Given the description of an element on the screen output the (x, y) to click on. 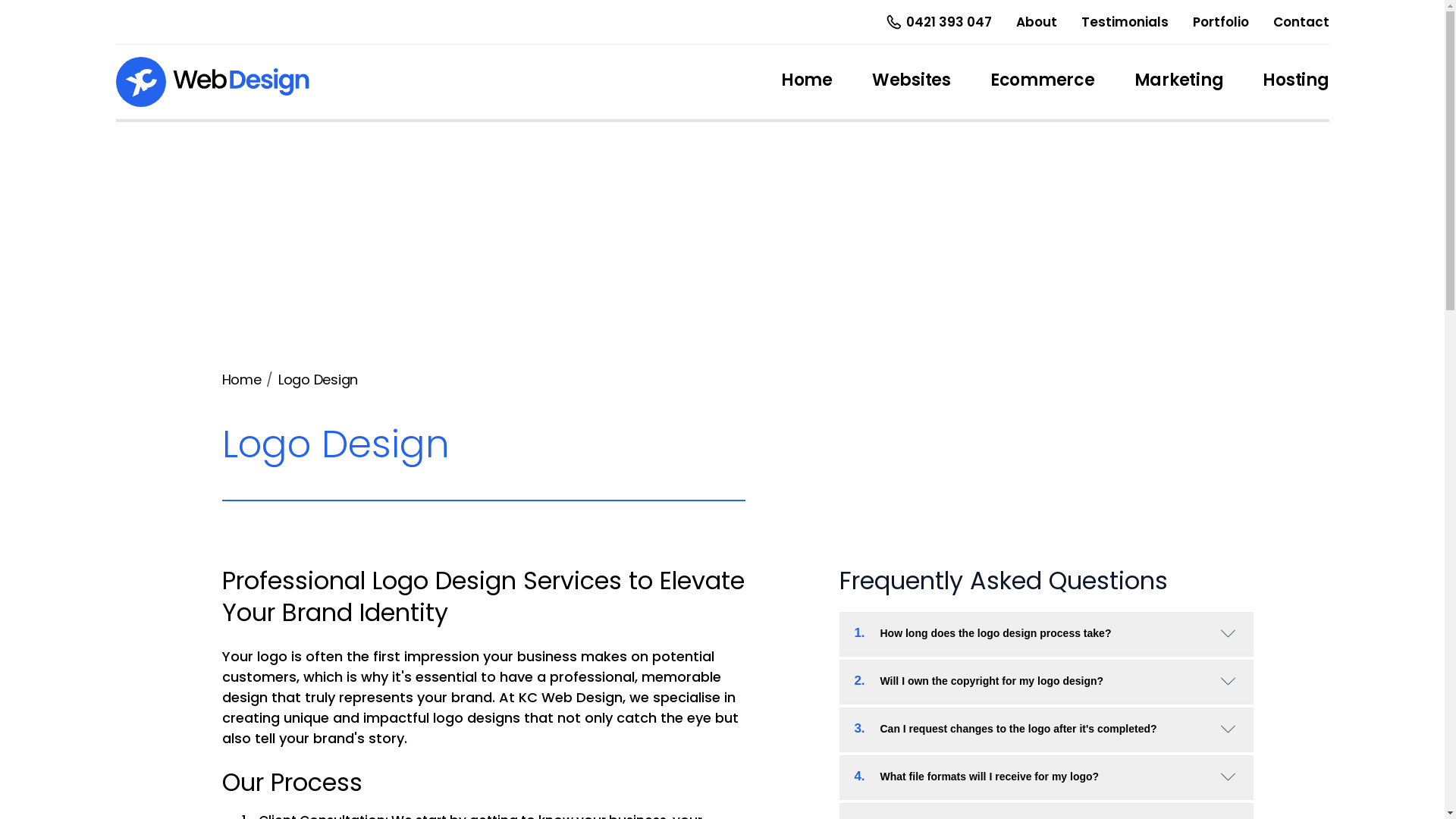
1.
How long does the logo design process take? Element type: text (1045, 632)
2.
Will I own the copyright for my logo design? Element type: text (1045, 680)
Testimonials Element type: text (1124, 21)
3.
Can I request changes to the logo after it's completed? Element type: text (1045, 728)
Websites Element type: text (911, 81)
Marketing Element type: text (1178, 81)
Home Element type: text (806, 81)
0421 393 047 Element type: text (936, 21)
Contact Element type: text (1300, 21)
4.
What file formats will I receive for my logo? Element type: text (1045, 776)
Portfolio Element type: text (1220, 21)
Home Element type: text (240, 379)
Ecommerce Element type: text (1042, 81)
About Element type: text (1036, 21)
Hosting Element type: text (1295, 81)
